Given the description of an element on the screen output the (x, y) to click on. 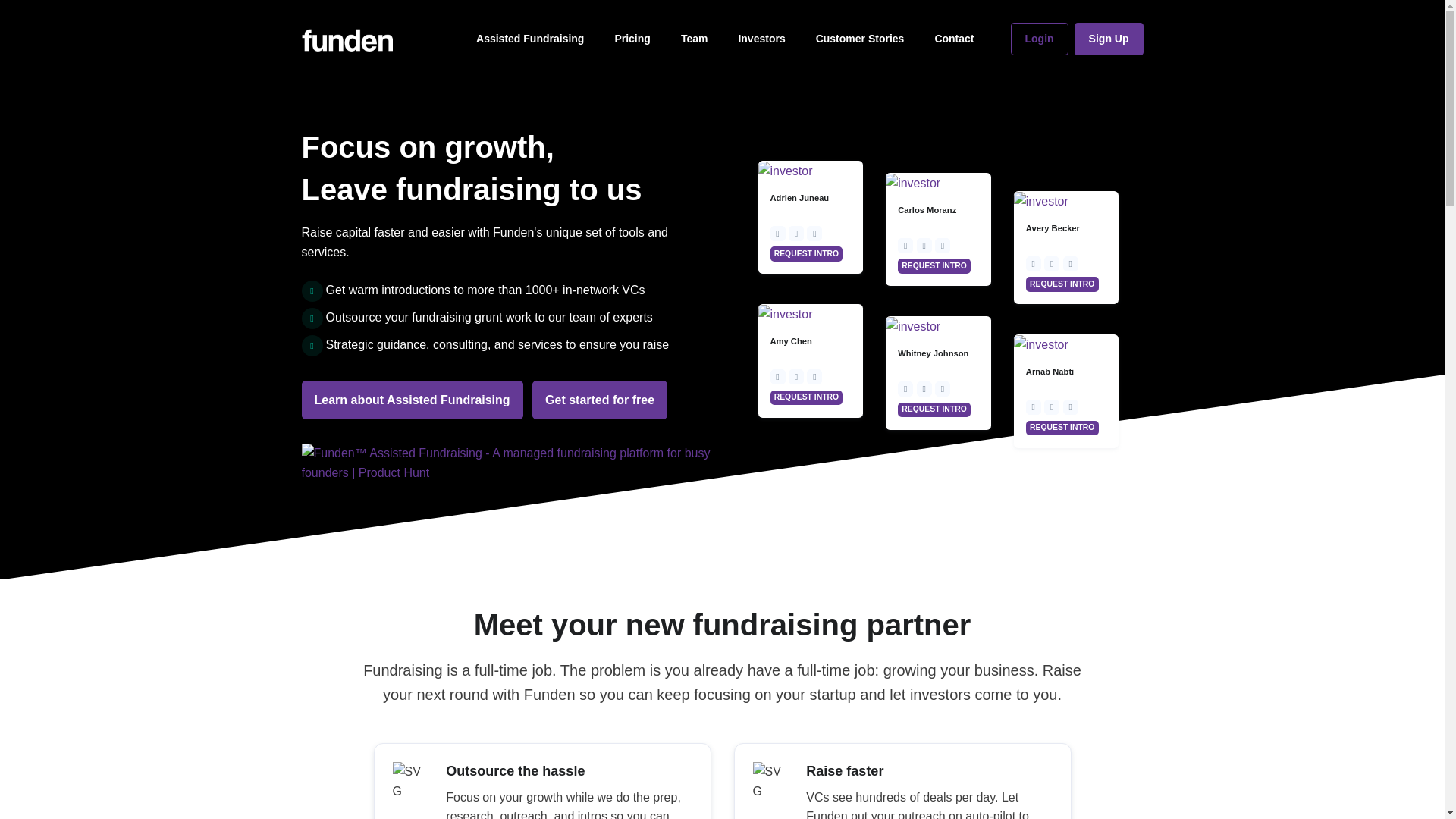
REQUEST INTRO (1066, 282)
Adrien Juneau (799, 197)
Customer Stories (860, 38)
Avery Becker (1053, 227)
Contact (953, 38)
Whitney Johnson (933, 352)
Investors (760, 38)
Pricing (632, 38)
Assisted Fundraising (529, 38)
Carlos Moranz (927, 209)
Amy Chen (791, 340)
Learn about Assisted Fundraising (411, 400)
REQUEST INTRO (810, 252)
Login (1038, 38)
REQUEST INTRO (938, 264)
